Given the description of an element on the screen output the (x, y) to click on. 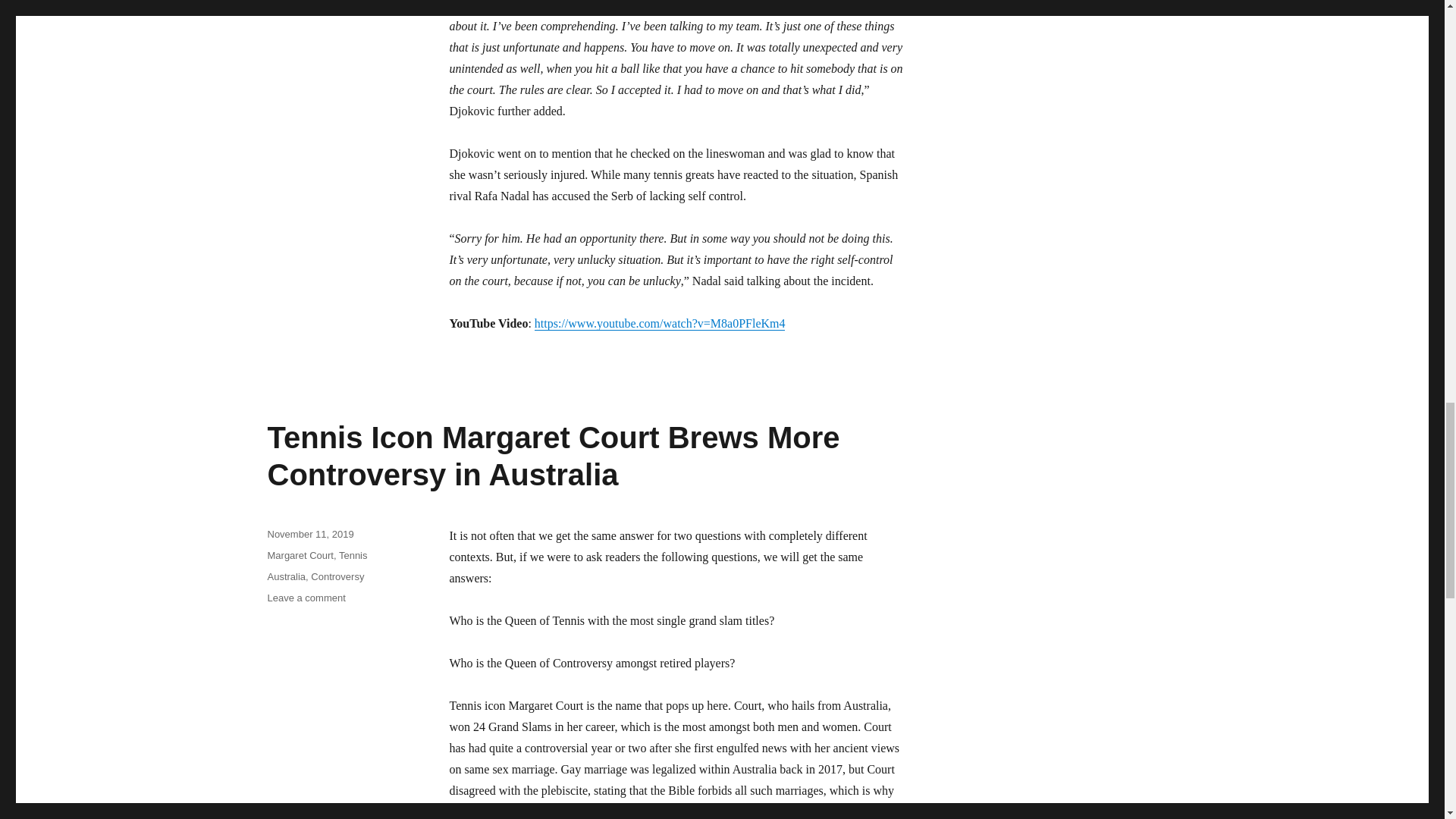
Controversy (337, 576)
November 11, 2019 (309, 533)
Australia (285, 576)
Margaret Court (299, 555)
Tennis (353, 555)
